Given the description of an element on the screen output the (x, y) to click on. 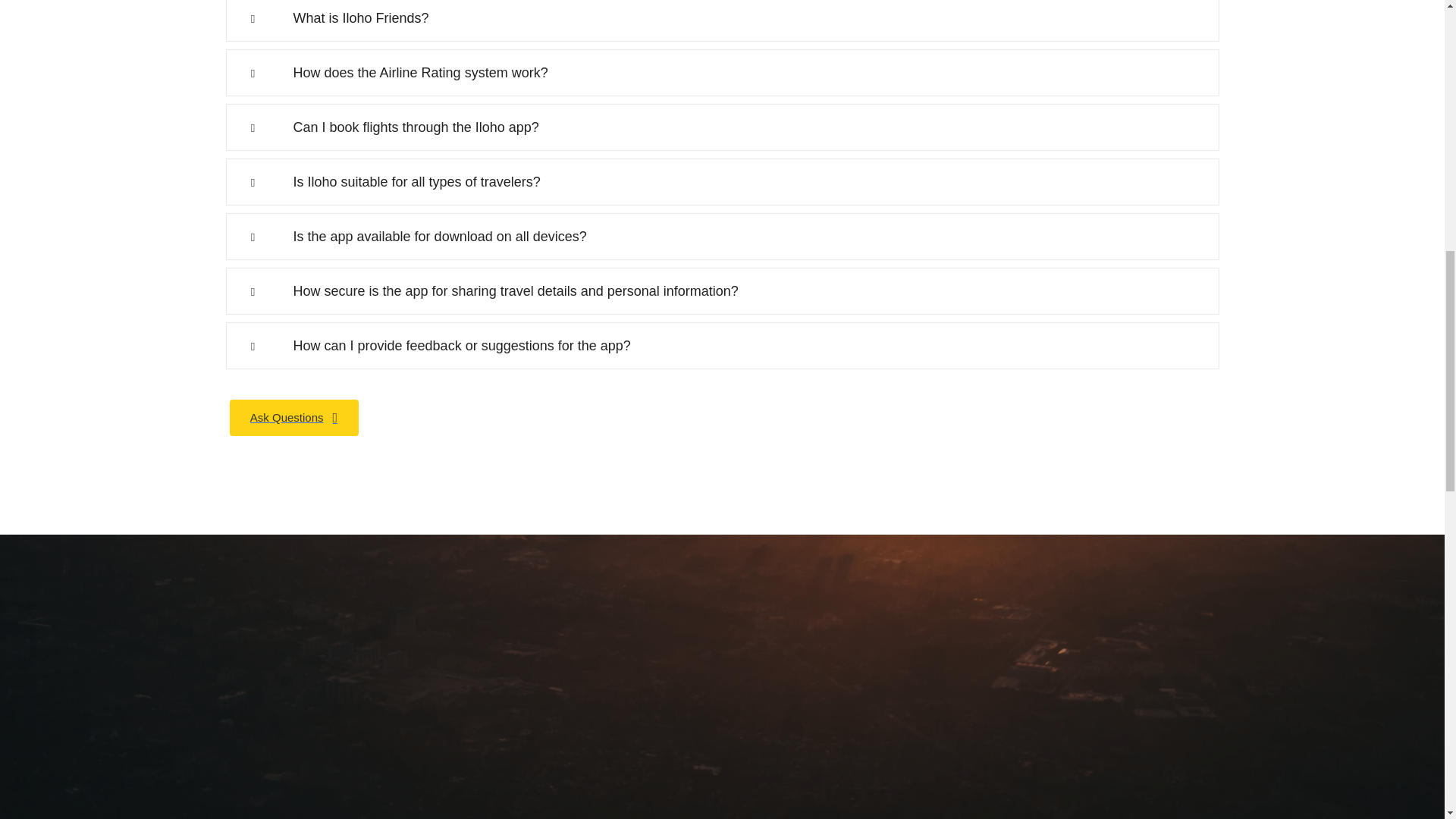
How does the Airline Rating system work? (722, 72)
How can I provide feedback or suggestions for the app? (722, 345)
Is Iloho suitable for all types of travelers? (722, 181)
Ask Questions (293, 417)
Is the app available for download on all devices? (722, 236)
What is Iloho Friends? (722, 20)
Can I book flights through the Iloho app? (722, 127)
